Given the description of an element on the screen output the (x, y) to click on. 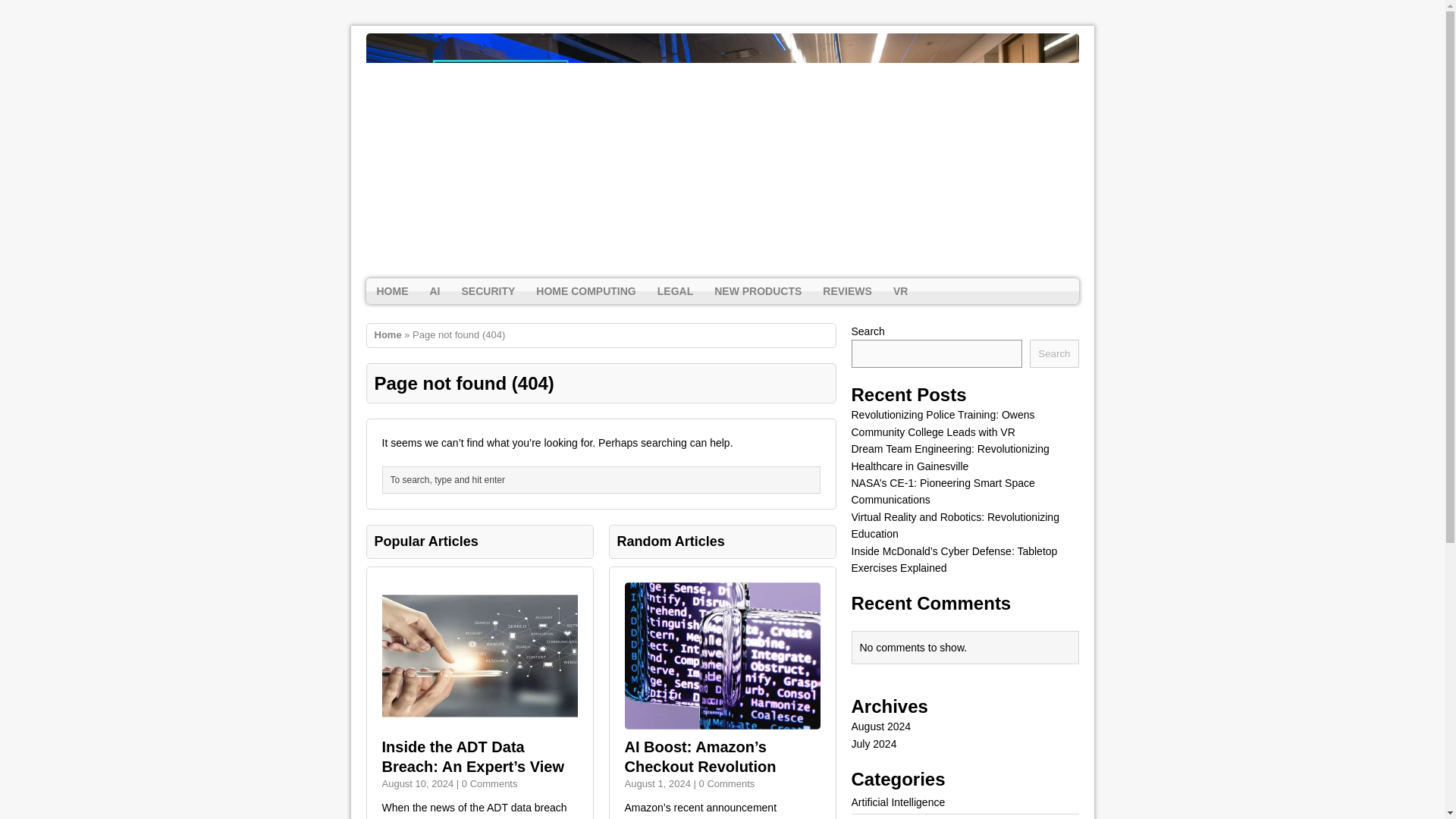
HOME COMPUTING (585, 290)
LEGAL (674, 290)
AI (434, 290)
Home (387, 334)
HOME (392, 290)
To search, type and hit enter (605, 479)
Virtual Reality and Robotics: Revolutionizing Education (954, 525)
REVIEWS (847, 290)
